Given the description of an element on the screen output the (x, y) to click on. 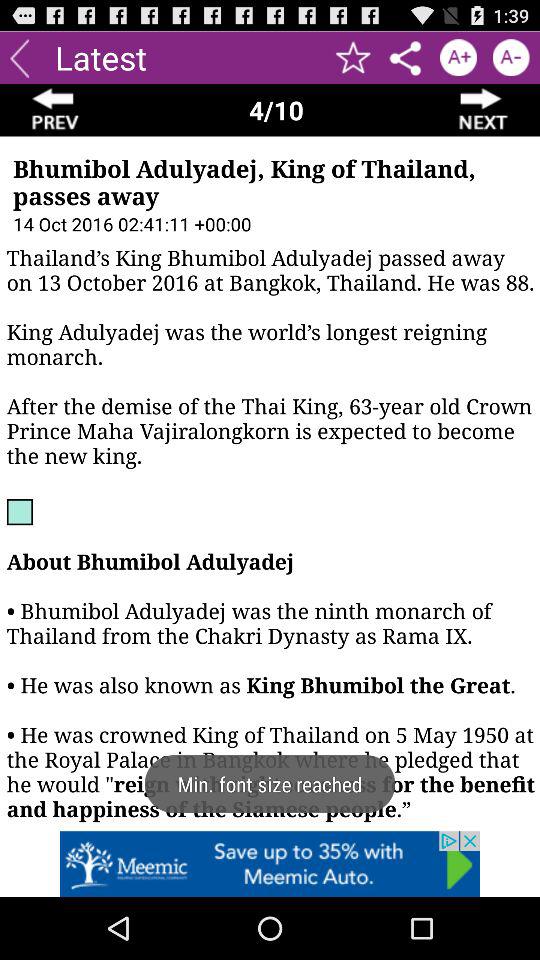
decrease (510, 57)
